Given the description of an element on the screen output the (x, y) to click on. 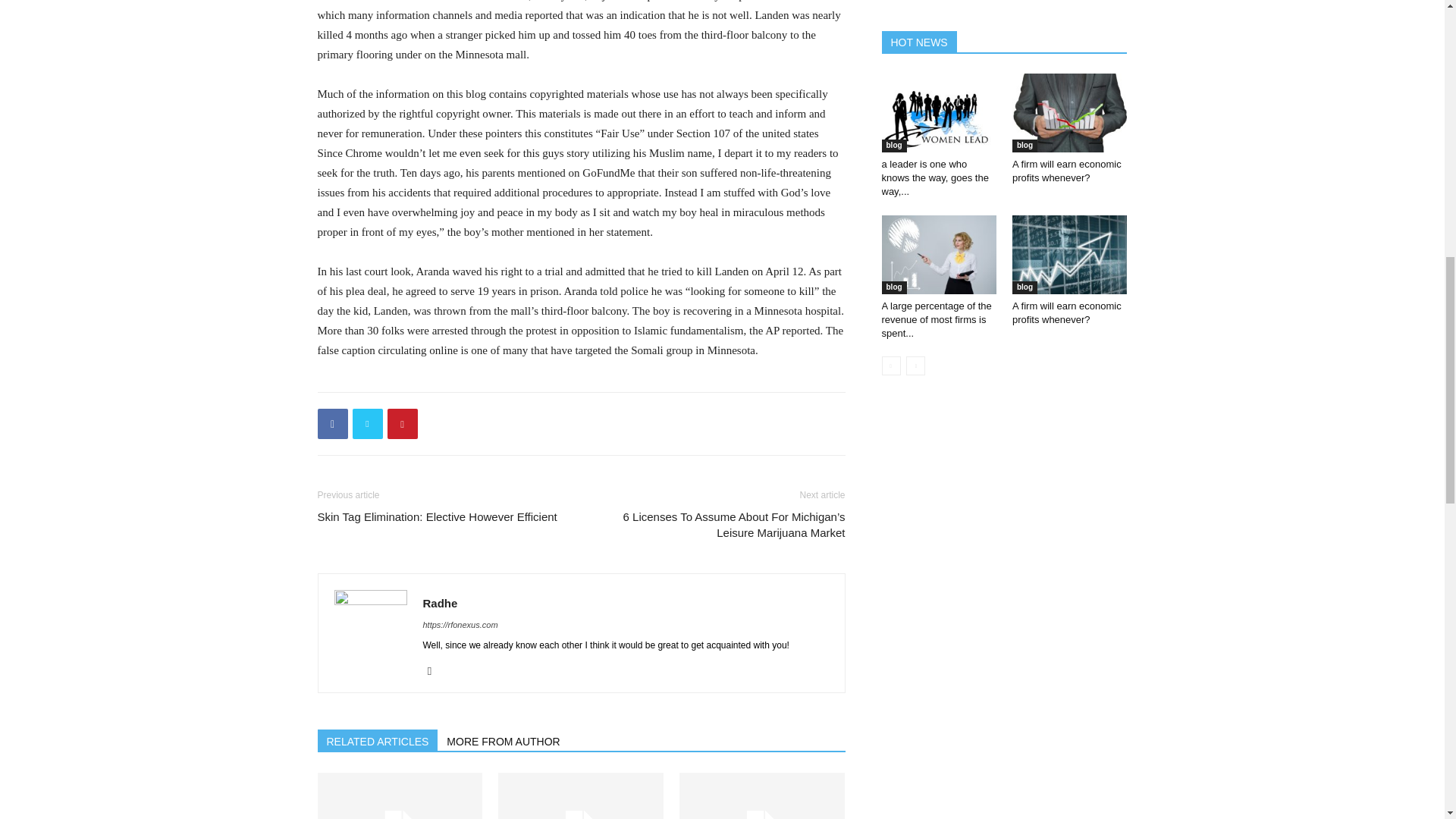
Xing (435, 670)
Dog Provides St  Cloud, Mn Space (761, 796)
